Given the description of an element on the screen output the (x, y) to click on. 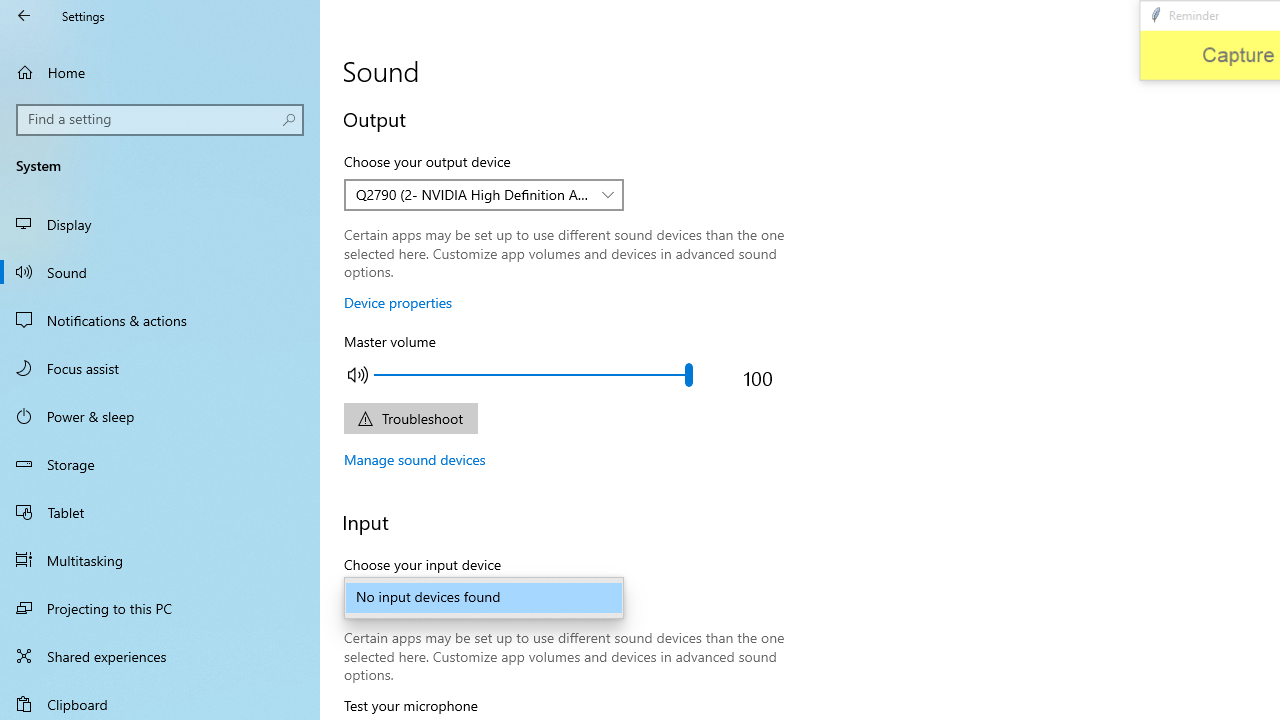
Tablet (160, 511)
Focus assist (160, 367)
Choose your output device (484, 194)
Q2790 (2- NVIDIA High Definition Audio) (473, 194)
Shared experiences (160, 655)
